Given the description of an element on the screen output the (x, y) to click on. 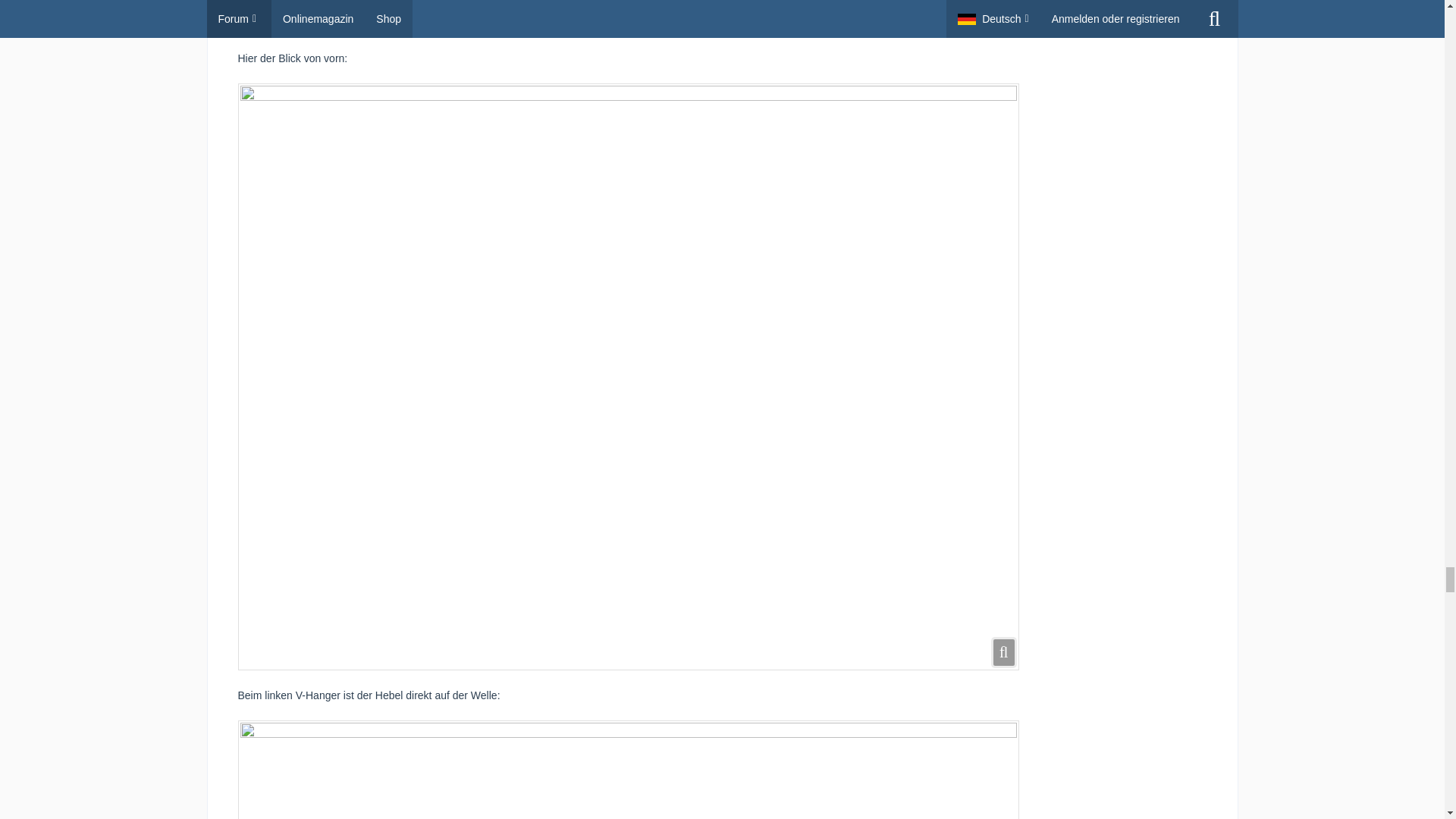
V-Hanger R back.jpg (628, 16)
V-Hanger L back.jpg (628, 769)
